Given the description of an element on the screen output the (x, y) to click on. 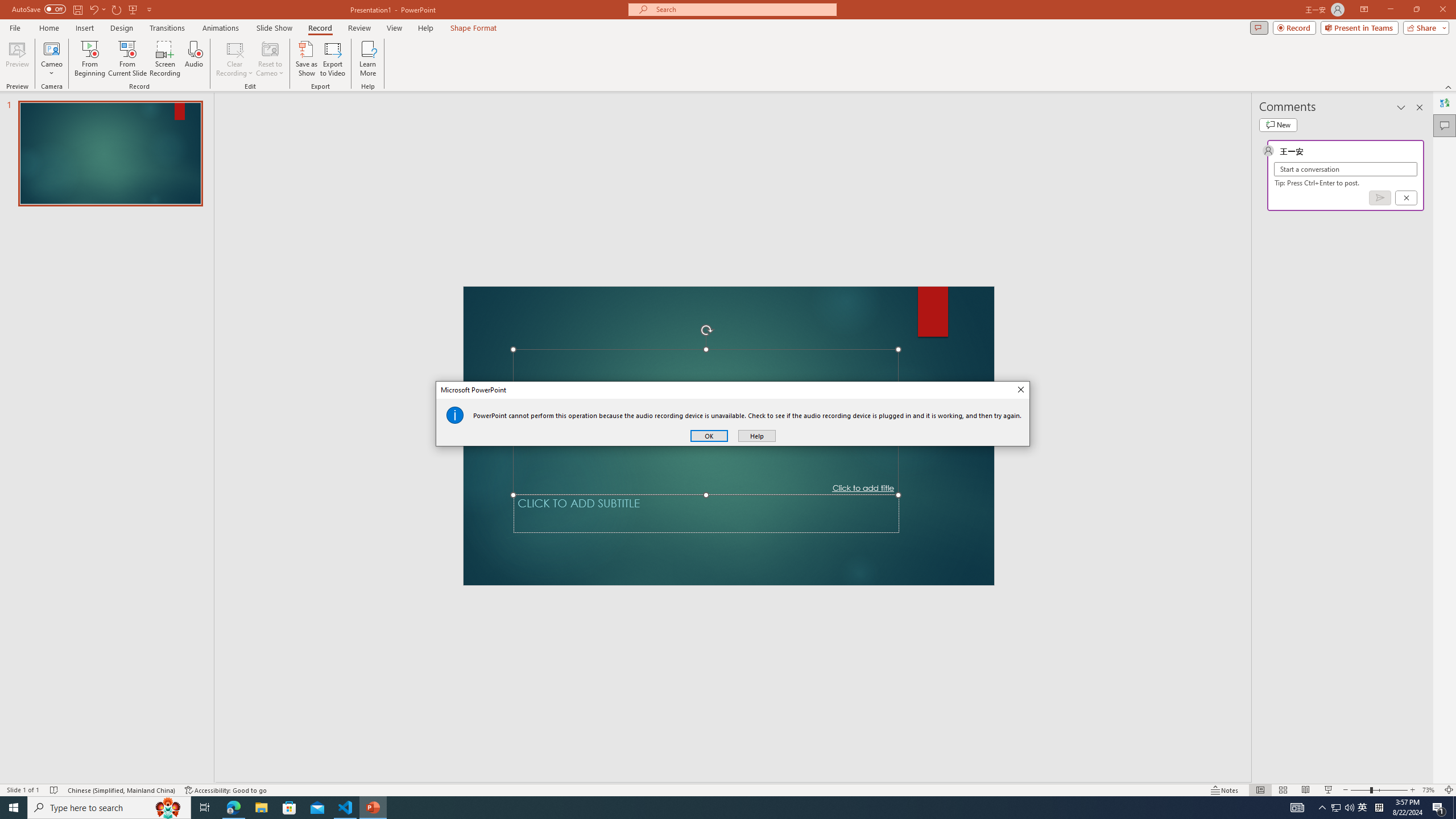
Minimize (1390, 9)
Normal (1260, 790)
Start a conversation (1344, 168)
Cameo (51, 48)
Action Center, 1 new notification (1439, 807)
Q2790: 100% (1349, 807)
Design (122, 28)
Search highlights icon opens search home window (167, 807)
Subtitle TextBox (706, 513)
